Given the description of an element on the screen output the (x, y) to click on. 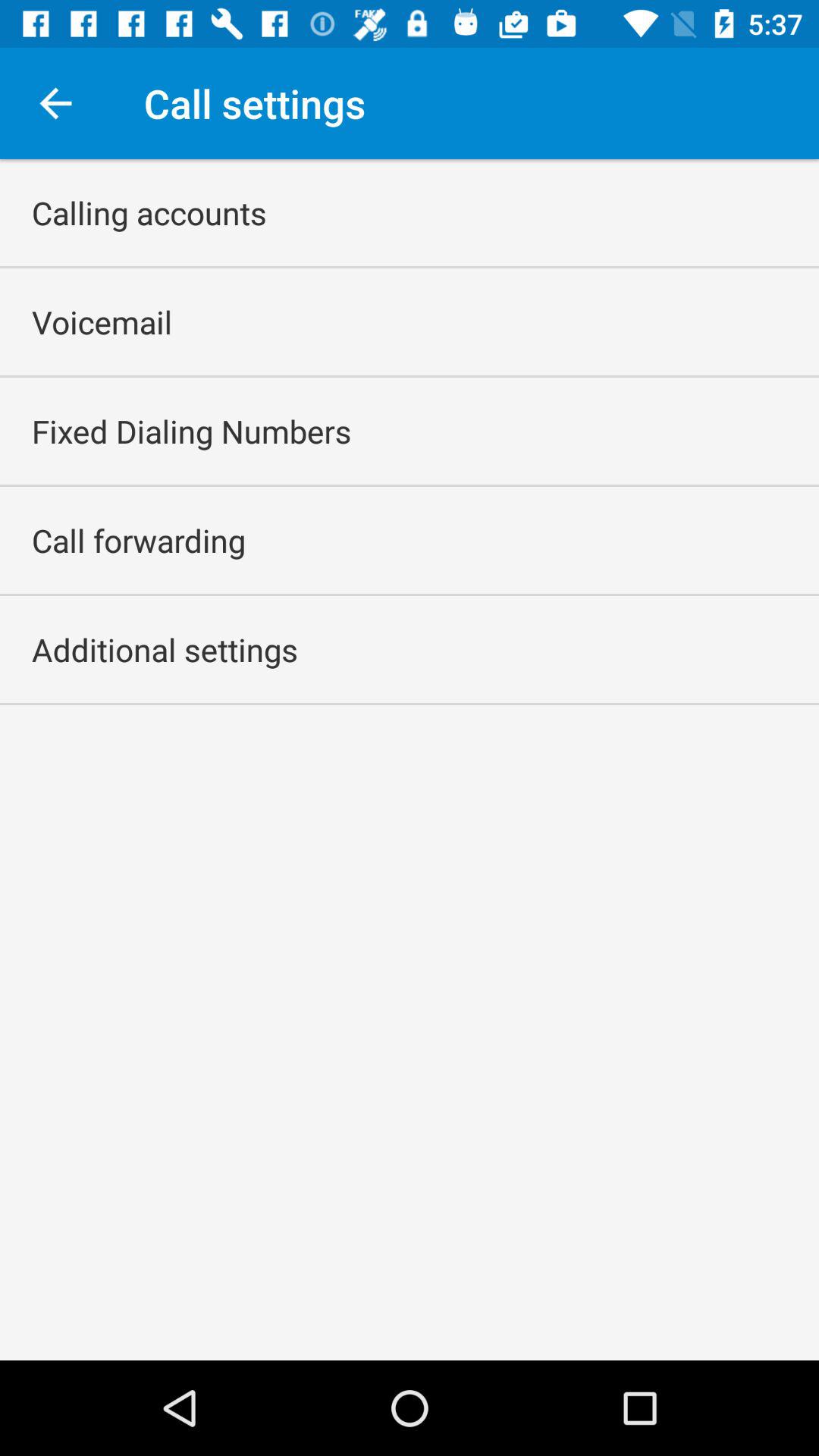
tap app below voicemail (191, 430)
